Given the description of an element on the screen output the (x, y) to click on. 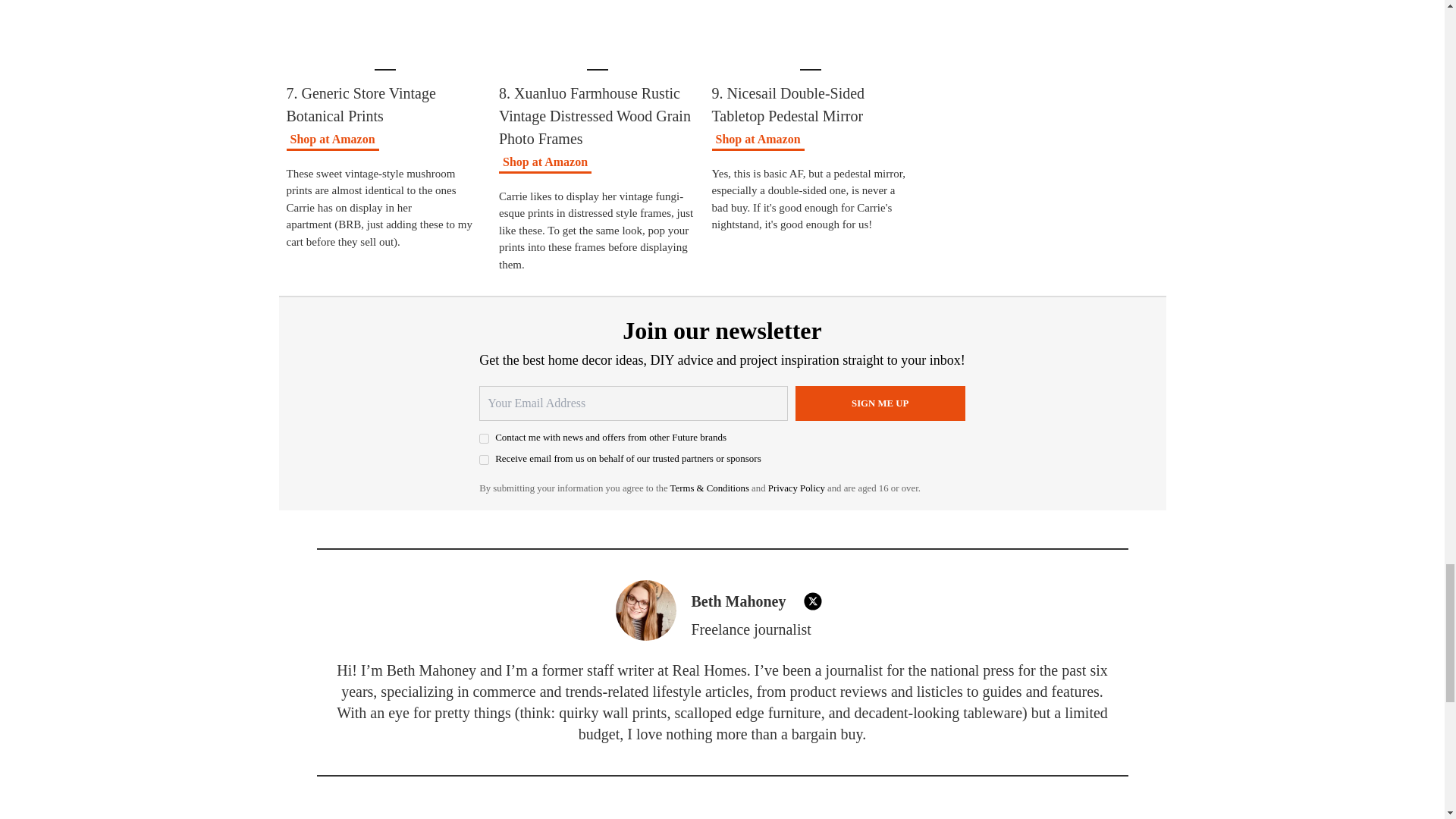
on (484, 460)
Sign me up (879, 402)
on (484, 438)
